Given the description of an element on the screen output the (x, y) to click on. 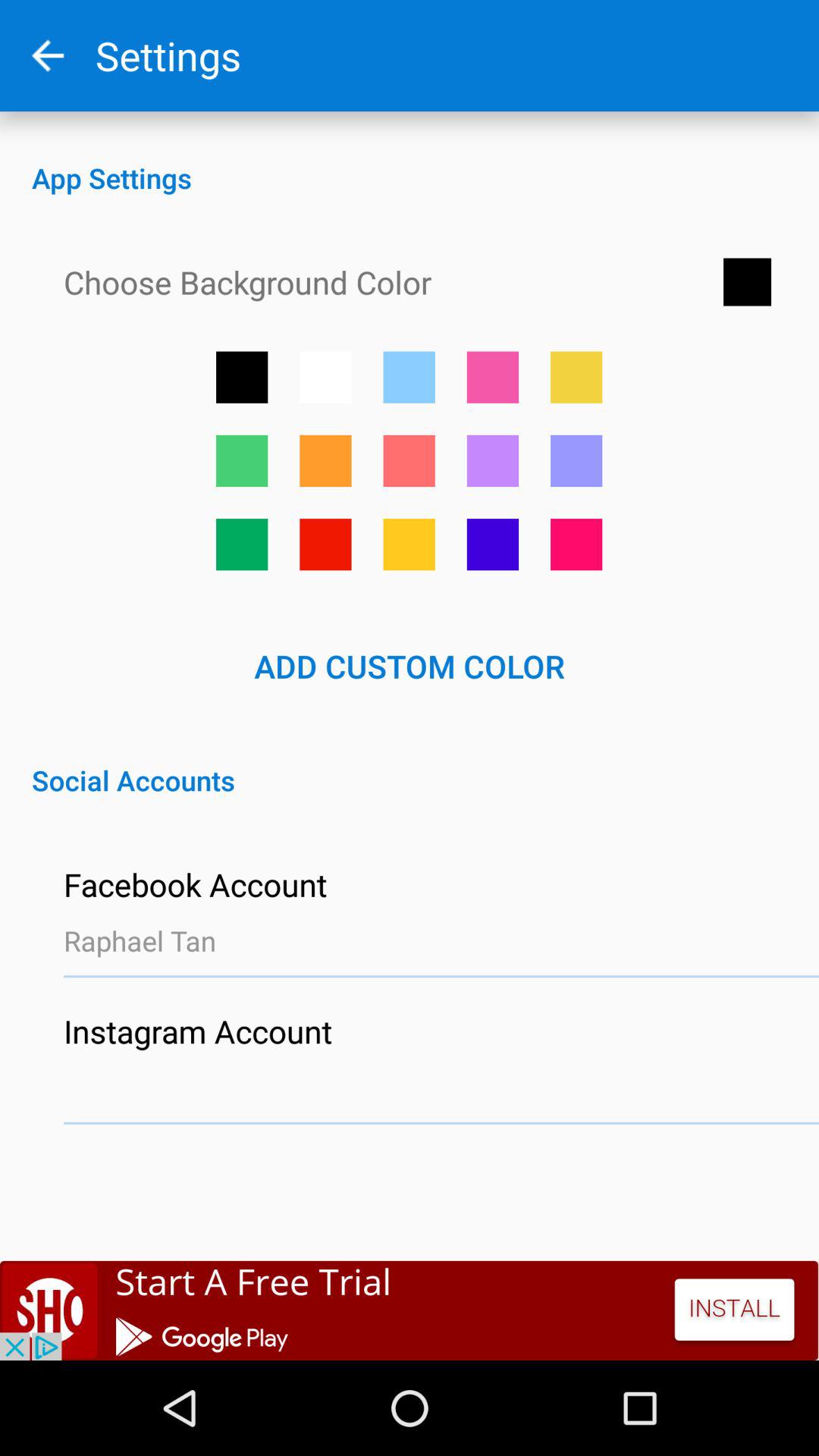
choose this pink color (409, 460)
